Given the description of an element on the screen output the (x, y) to click on. 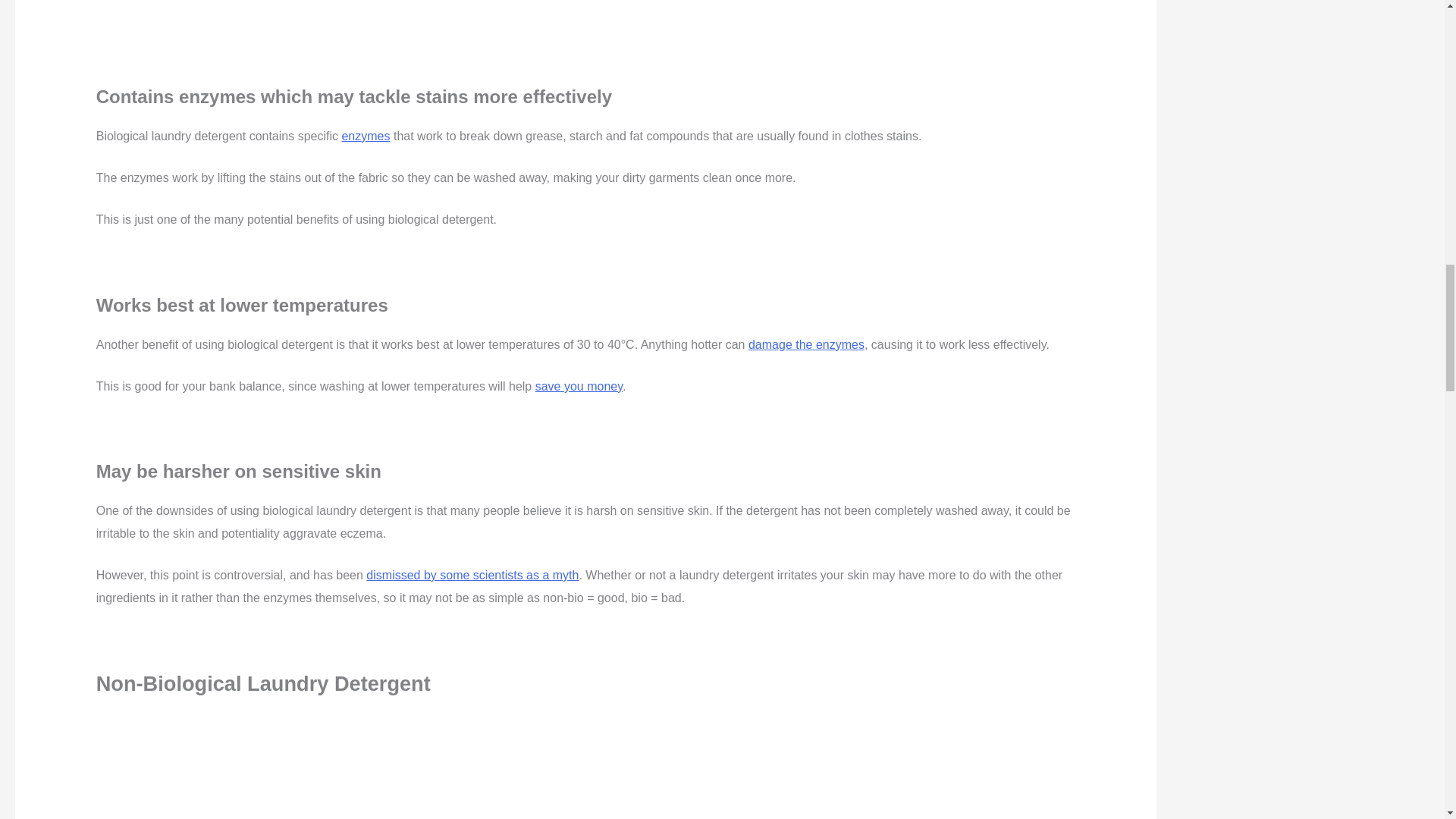
save you money (579, 386)
dismissed by some scientists as a myth (472, 574)
enzymes (365, 135)
damage the enzymes (806, 344)
